Given the description of an element on the screen output the (x, y) to click on. 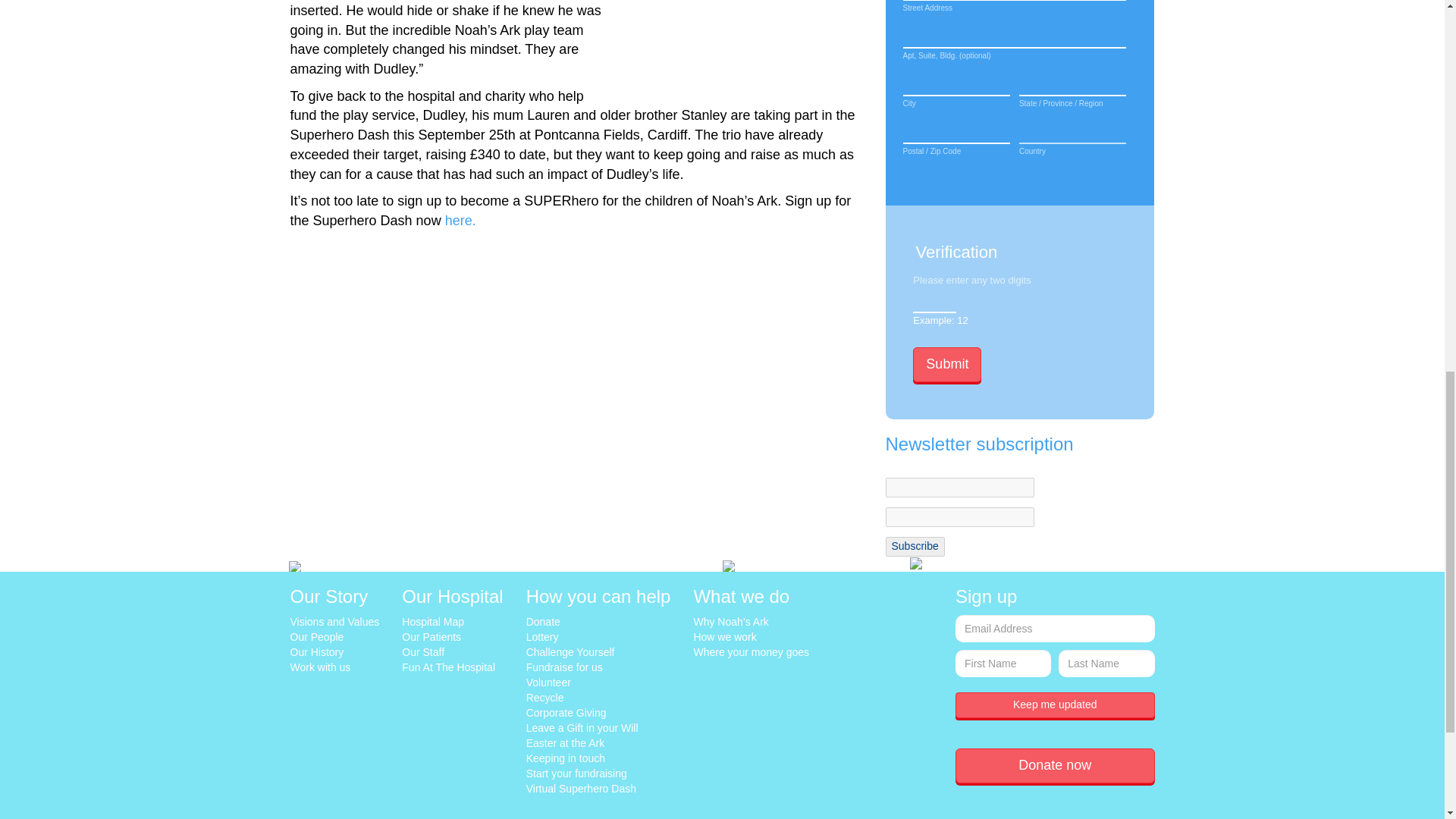
Subscribe (914, 546)
Keep me updated (1054, 705)
Submit (946, 364)
